Given the description of an element on the screen output the (x, y) to click on. 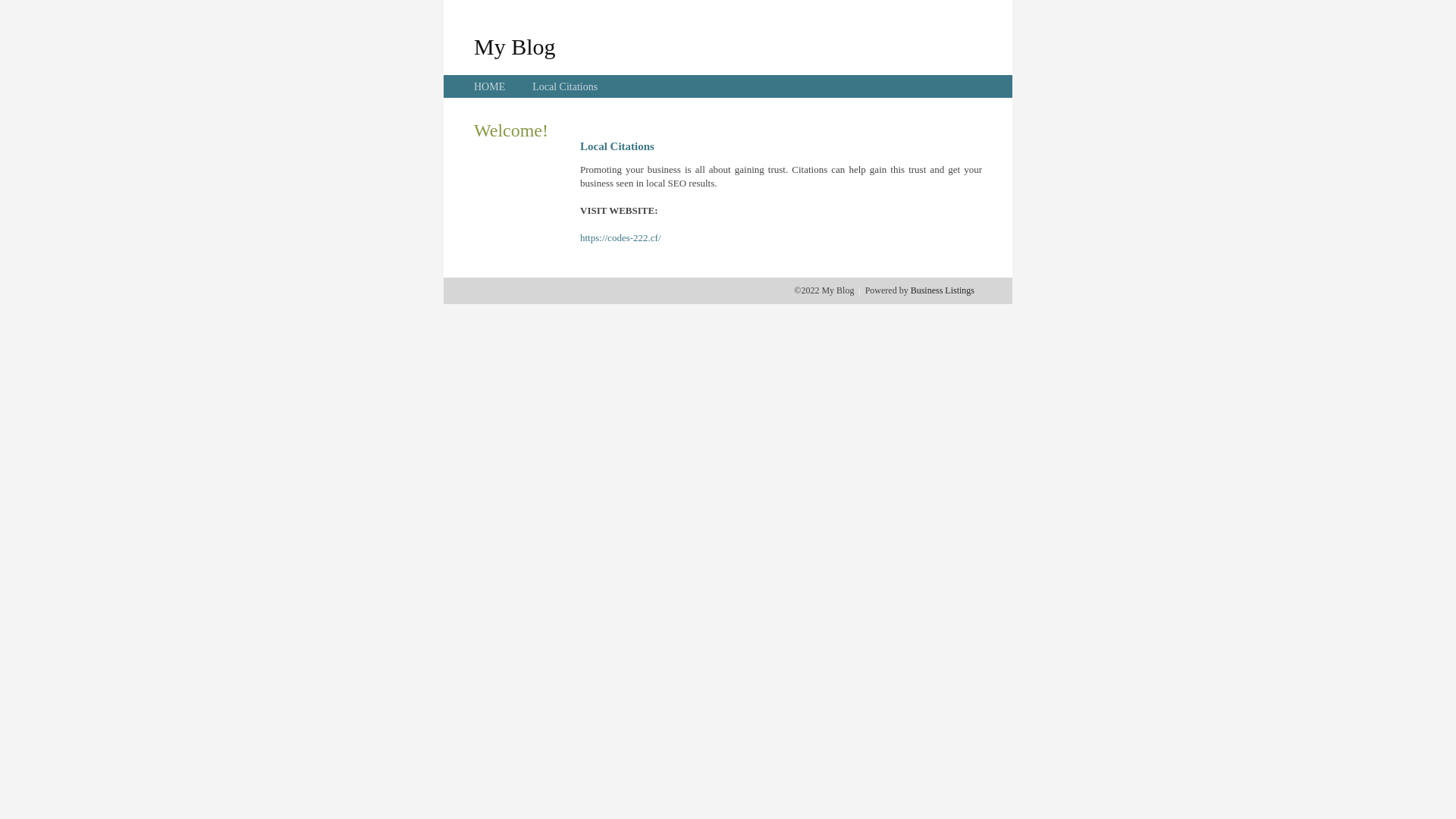
Business Listings Element type: text (942, 290)
HOME Element type: text (489, 86)
My Blog Element type: text (514, 46)
Local Citations Element type: text (564, 86)
https://codes-222.cf/ Element type: text (620, 237)
